Given the description of an element on the screen output the (x, y) to click on. 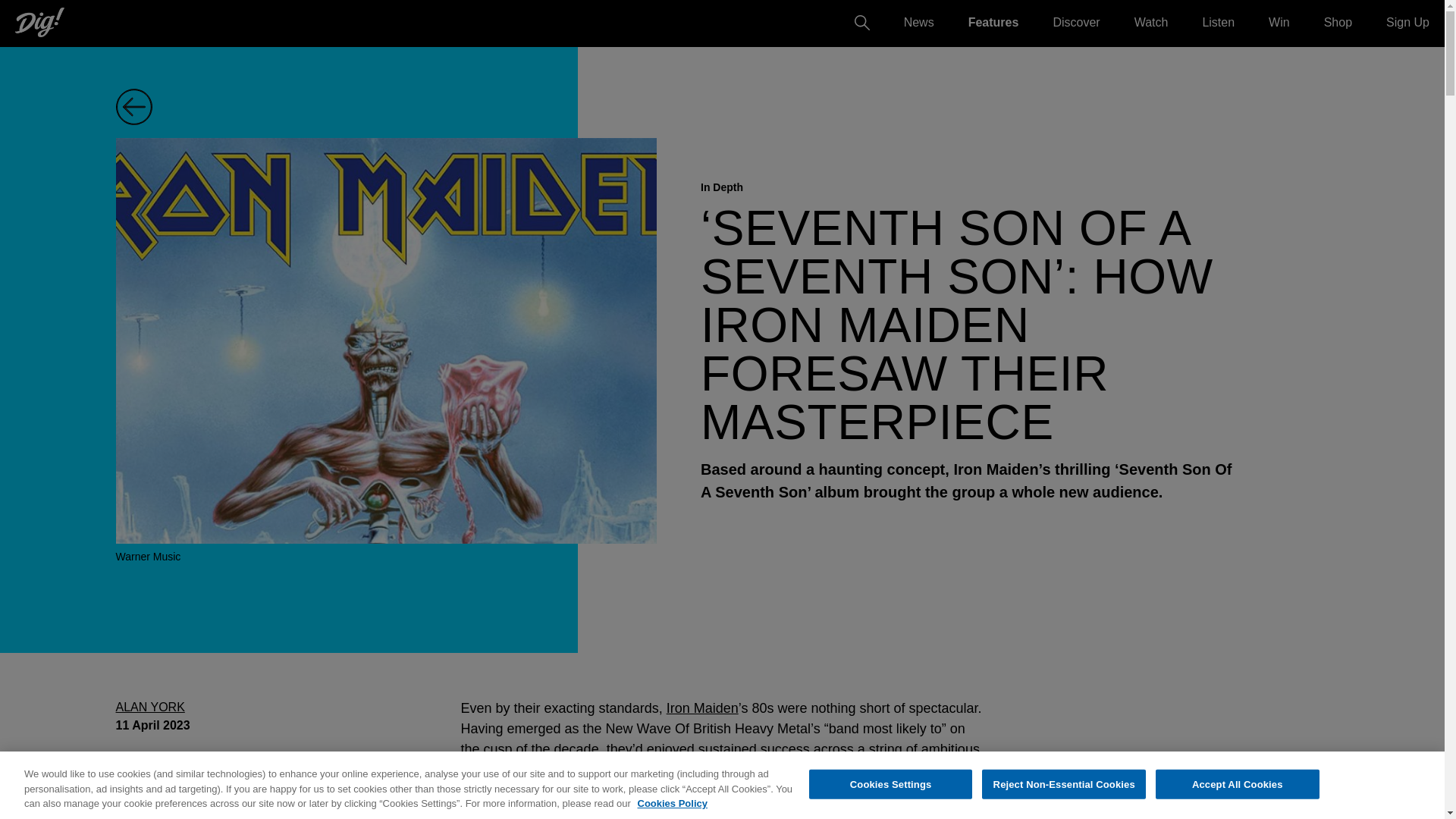
News (919, 21)
Listen (1218, 21)
The Number Of The Beast (709, 779)
Discover (1075, 21)
Win (1279, 21)
Back (145, 106)
Iron Maiden (702, 708)
Features (993, 21)
ALAN YORK (149, 707)
Watch (1151, 21)
Sign Up (1407, 21)
Shop (1337, 21)
